Given the description of an element on the screen output the (x, y) to click on. 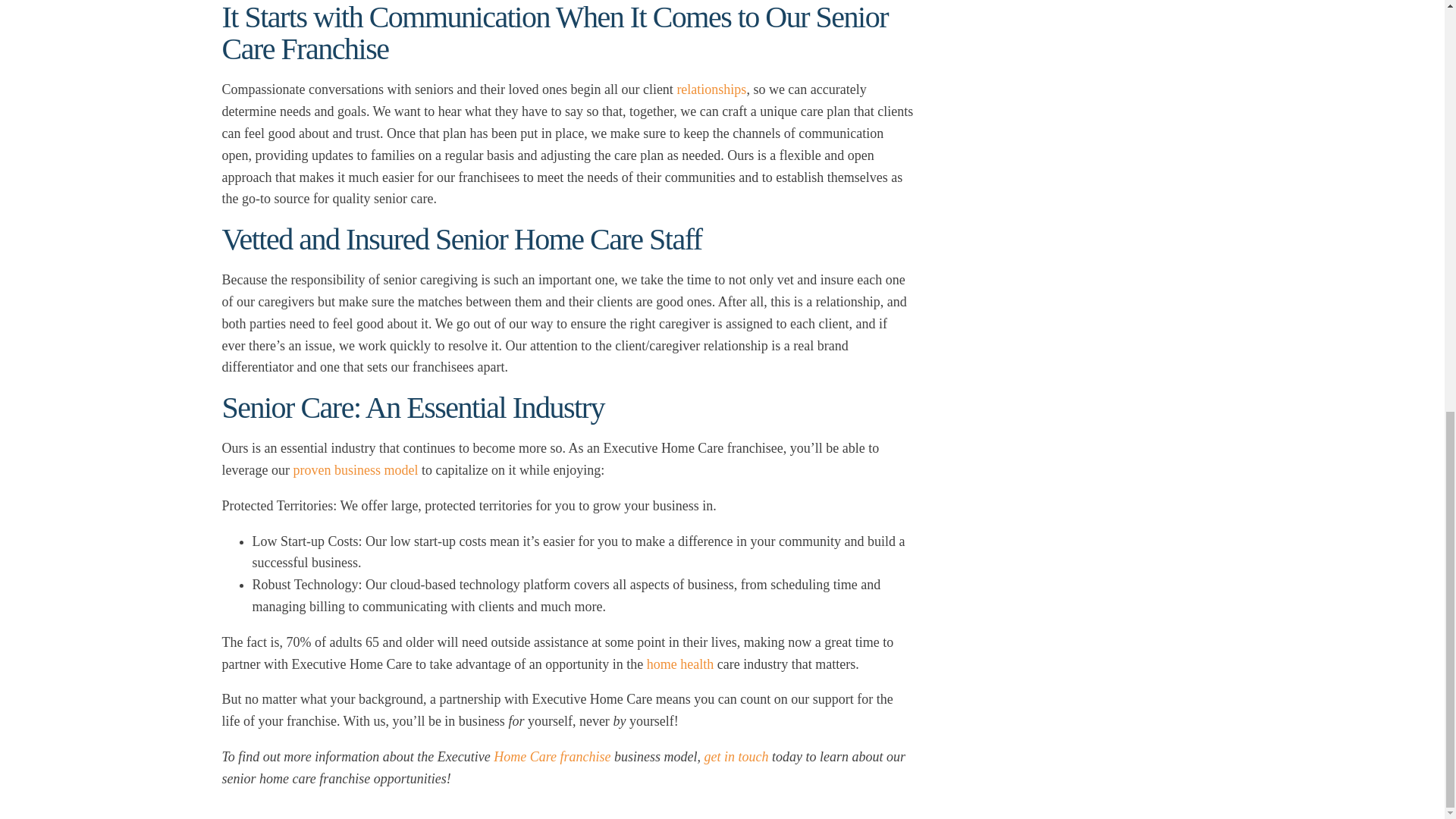
home health (679, 663)
relationships (711, 89)
proven business model (354, 469)
Home Care franchise (551, 756)
